Given the description of an element on the screen output the (x, y) to click on. 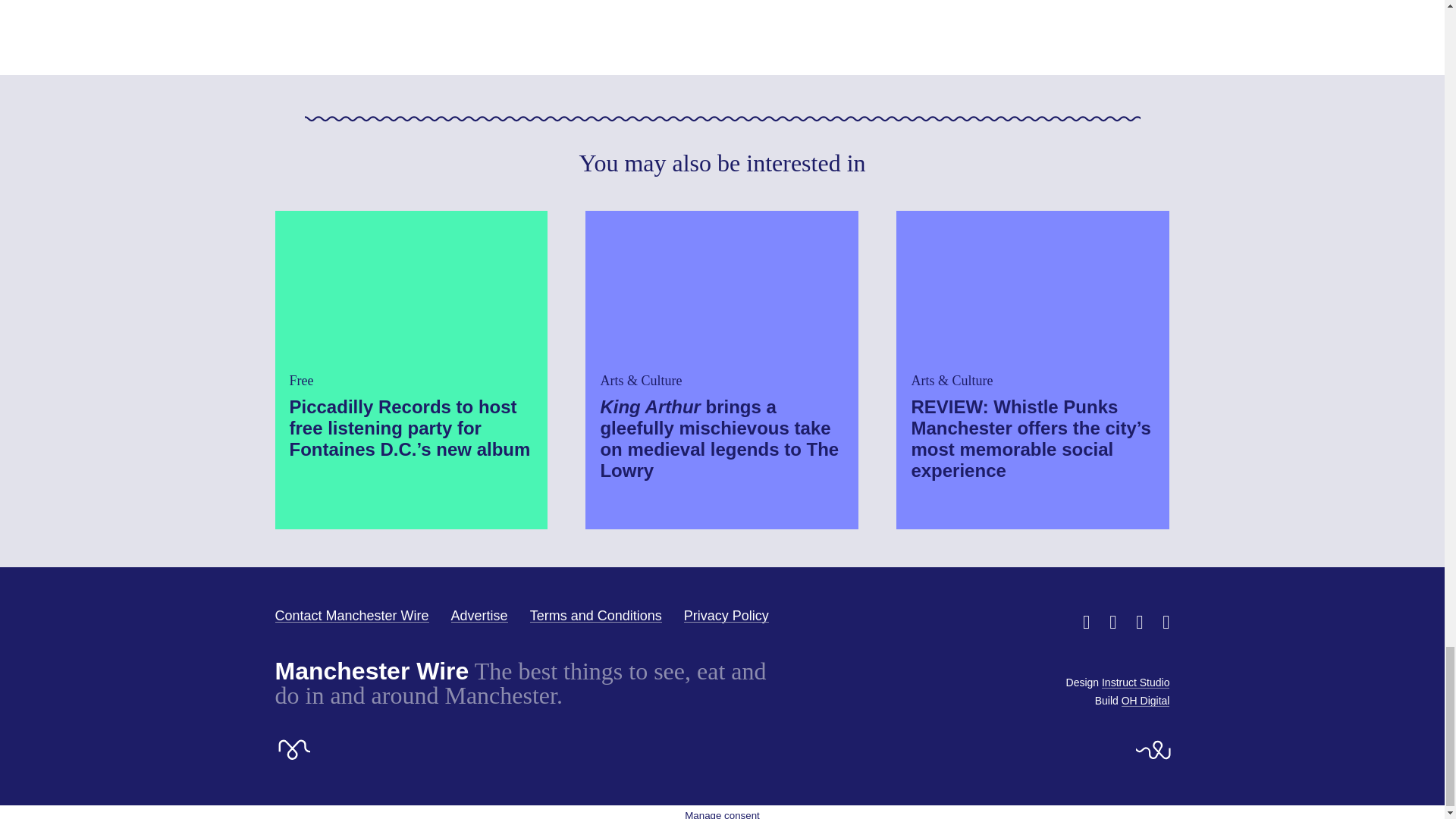
Follow us on instagram (1138, 621)
Follow us on facebook (1112, 621)
Follow us on twitter (1086, 621)
